Given the description of an element on the screen output the (x, y) to click on. 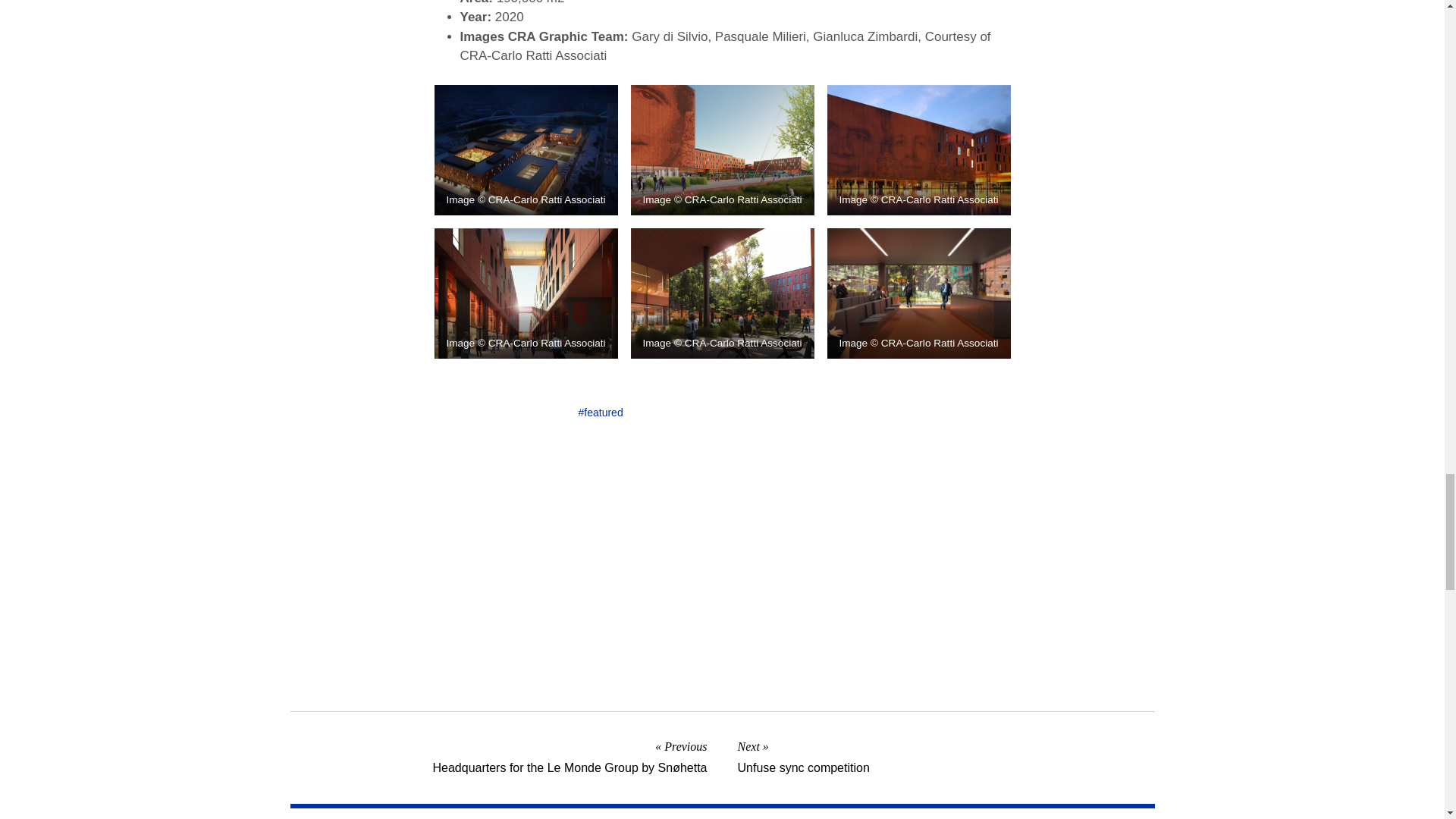
featured (600, 412)
